Given the description of an element on the screen output the (x, y) to click on. 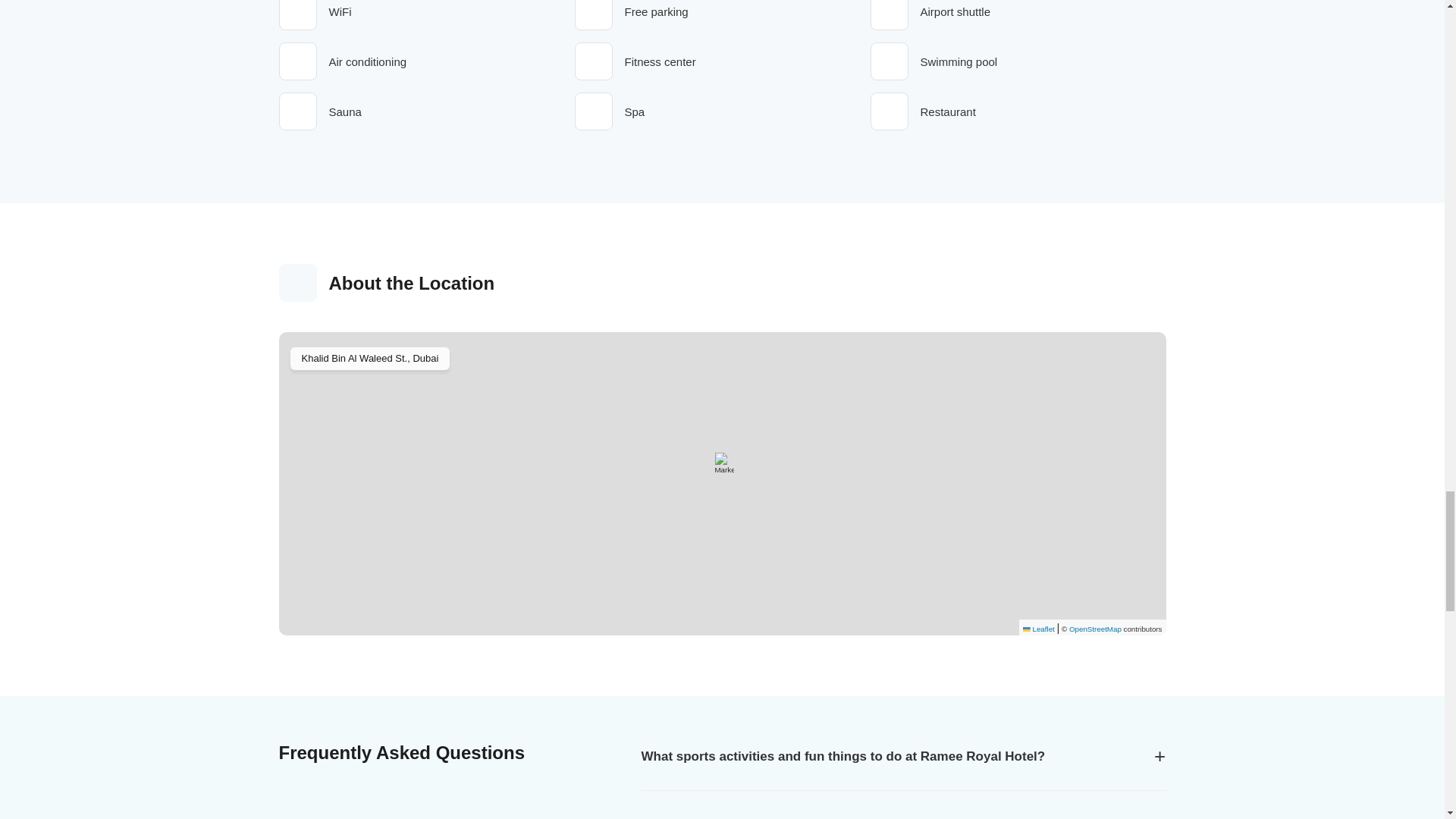
OpenStreetMap (1094, 628)
A JavaScript library for interactive maps (1038, 628)
Leaflet (1038, 628)
